Given the description of an element on the screen output the (x, y) to click on. 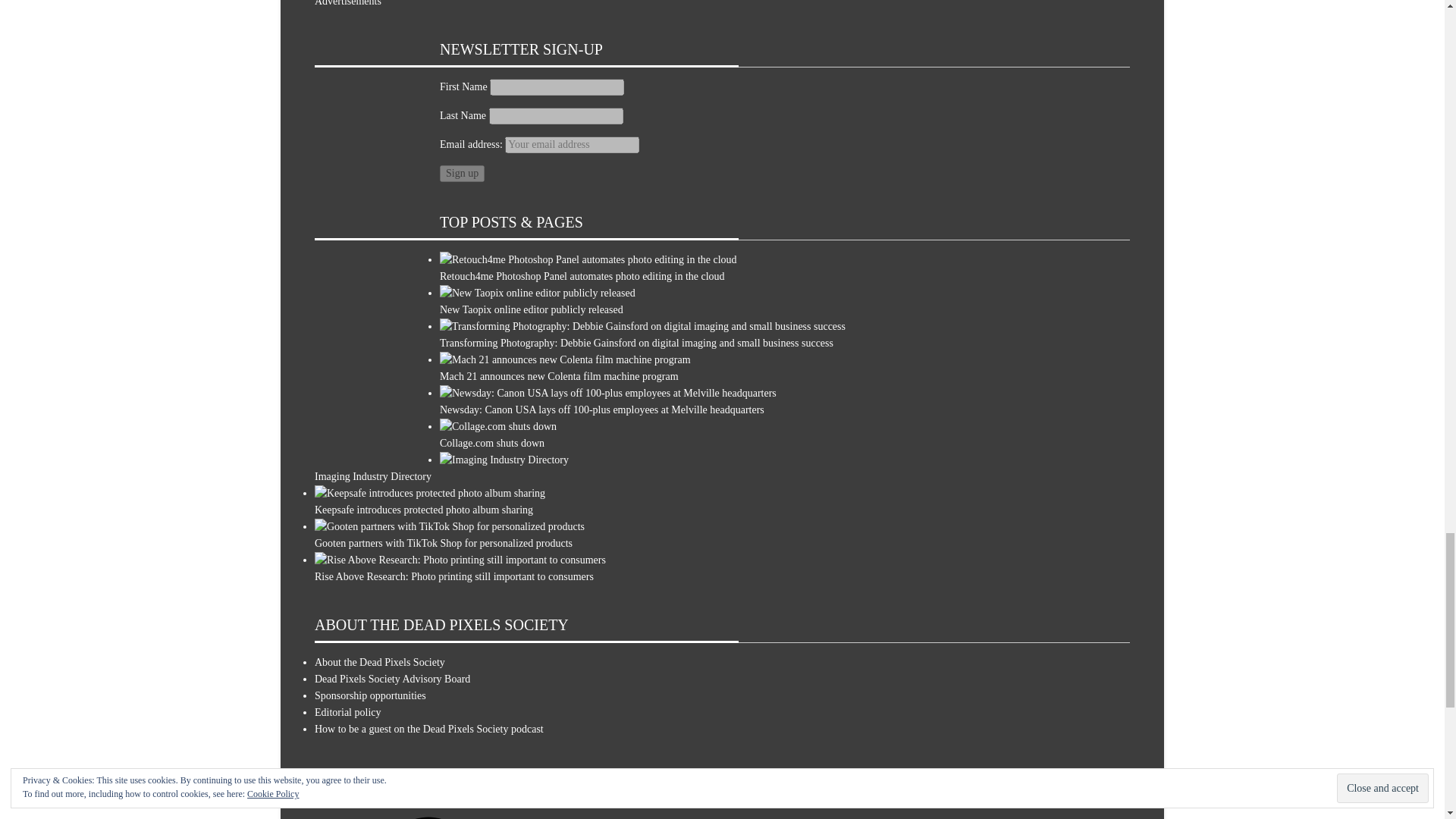
Sign up (461, 173)
